Given the description of an element on the screen output the (x, y) to click on. 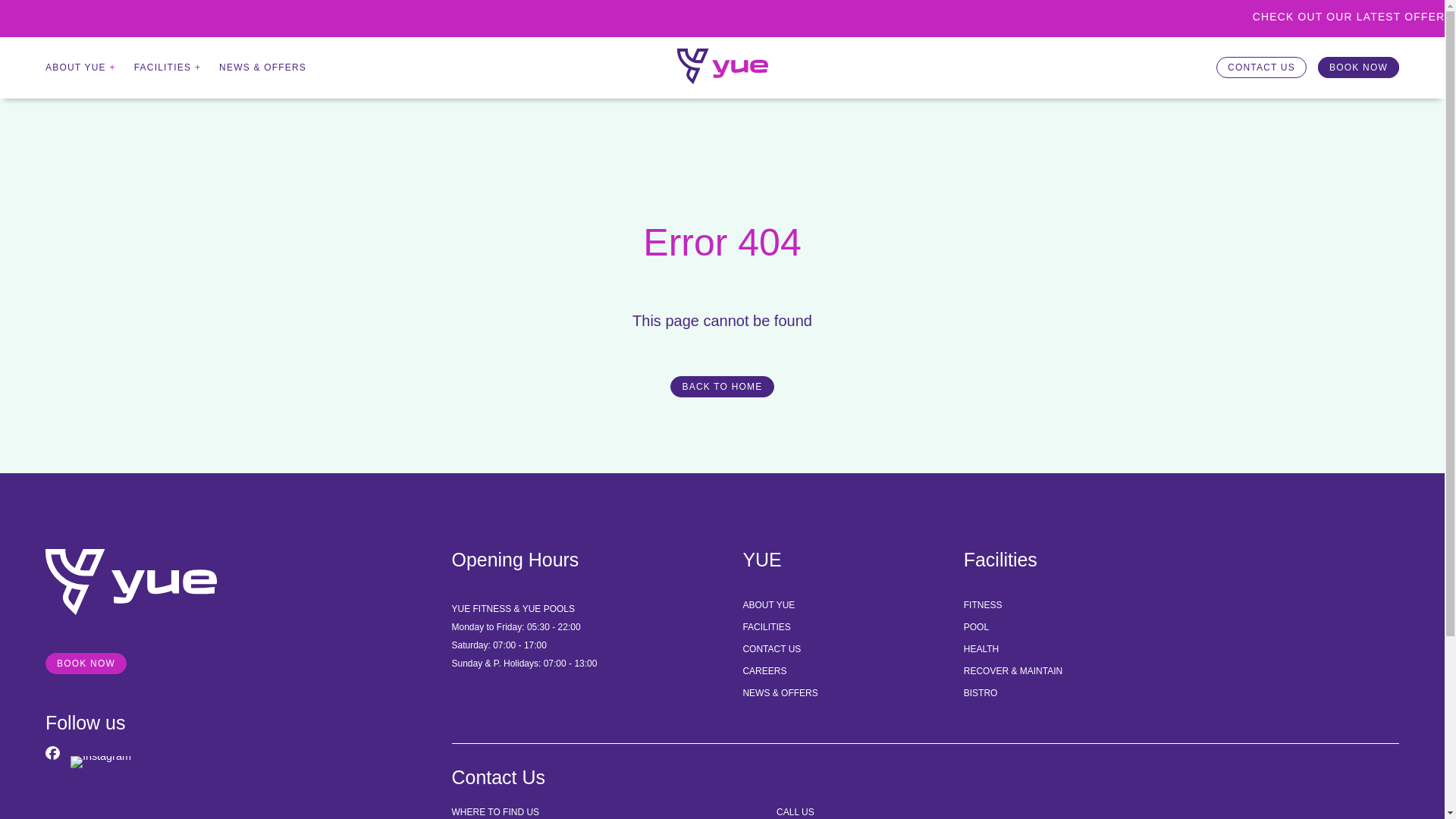
POOL (975, 626)
HEALTH (980, 648)
FACILITIES (766, 626)
CAREERS (764, 670)
FITNESS (983, 604)
FACILITIES (161, 67)
ABOUT YUE (768, 604)
BOOK NOW (1358, 66)
BOOK NOW (85, 663)
BISTRO (980, 692)
